Given the description of an element on the screen output the (x, y) to click on. 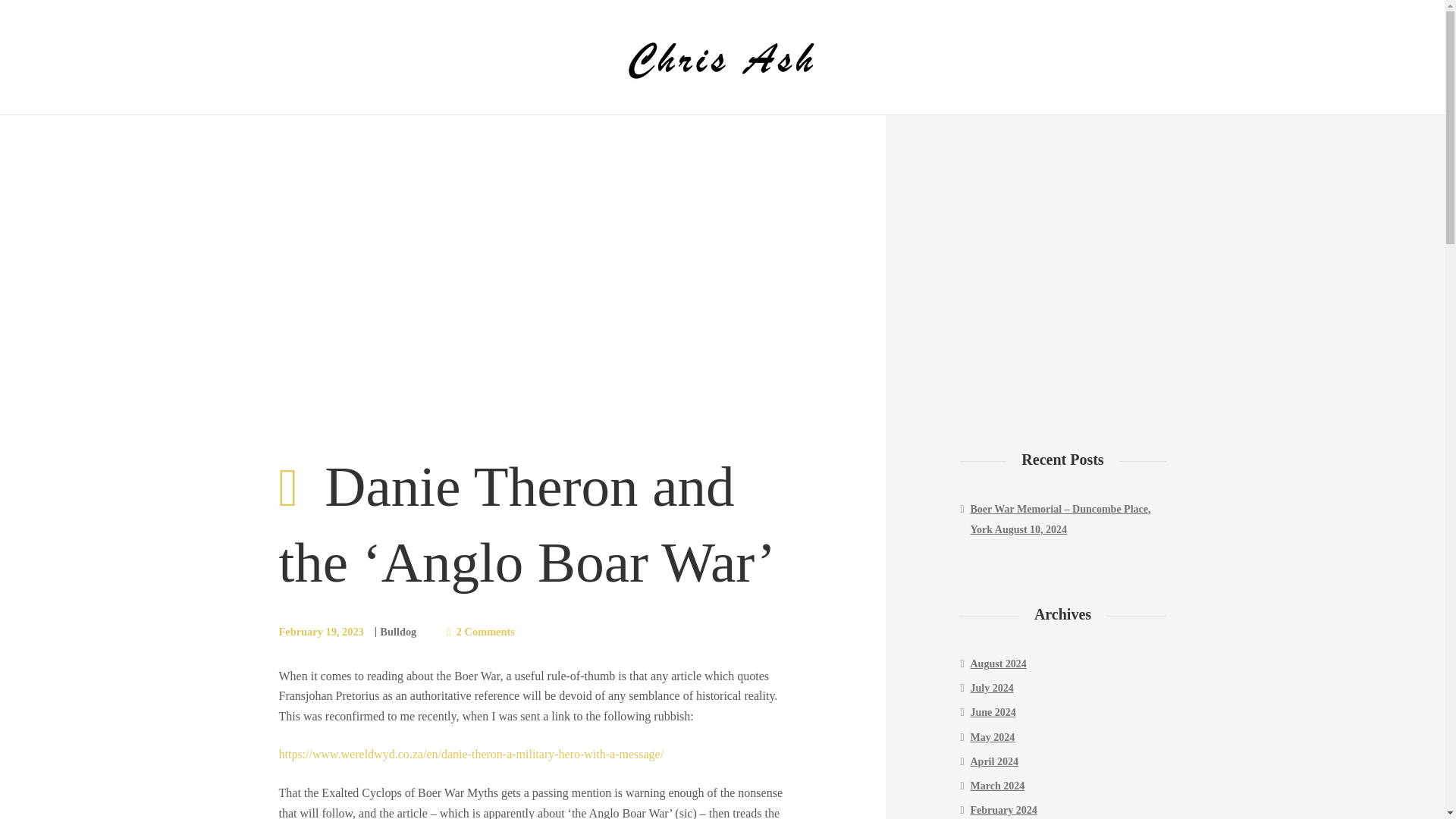
August 2024 (998, 663)
June 2024 (993, 712)
February 19, 2023 (321, 631)
March 2024 (998, 785)
February 2024 (1003, 809)
Comments - 2 (480, 631)
Bulldog (398, 631)
2 Comments (480, 631)
May 2024 (992, 737)
July 2024 (992, 687)
